Given the description of an element on the screen output the (x, y) to click on. 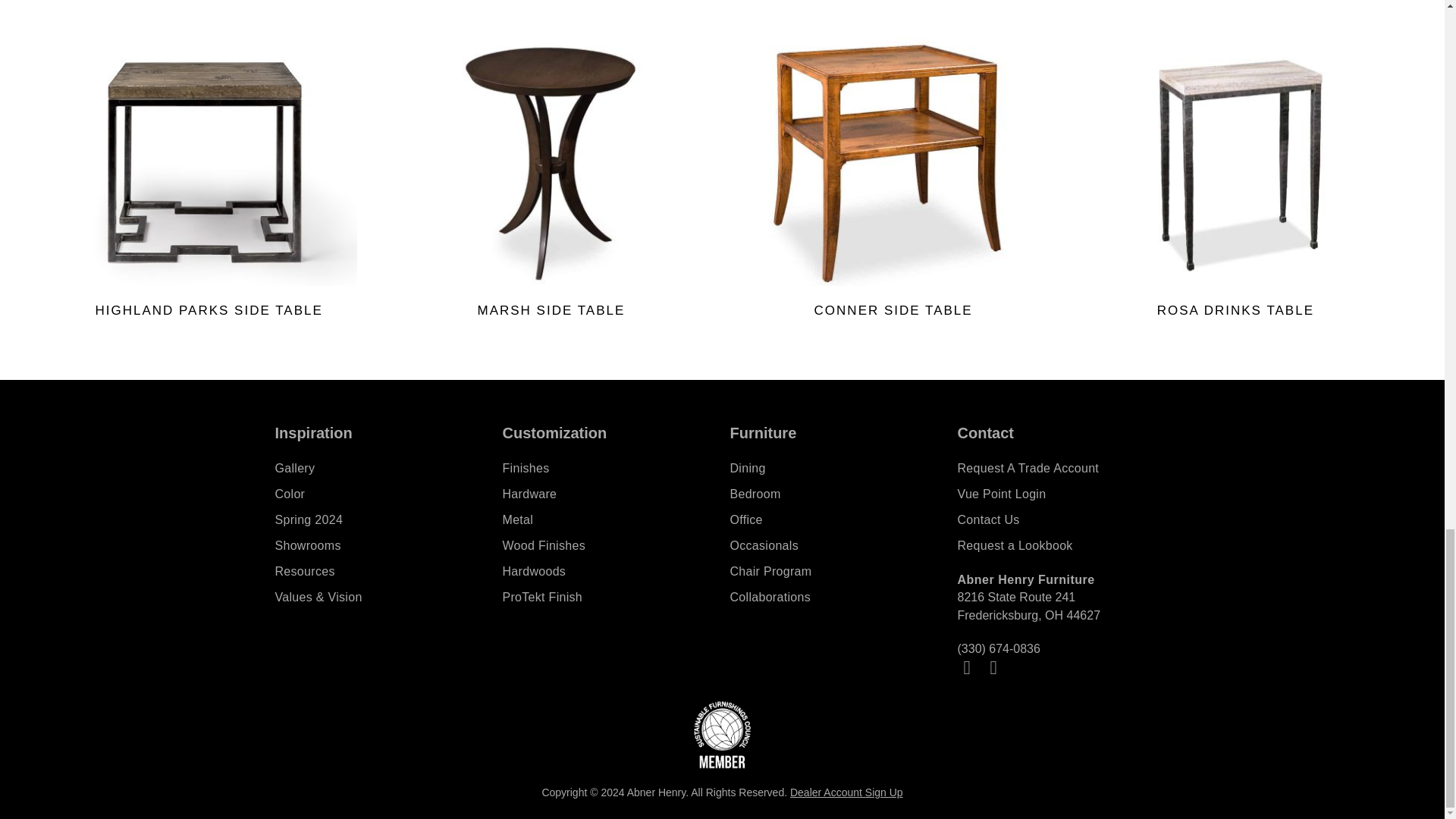
Spring 2024 (380, 519)
CONNER SIDE TABLE (892, 180)
Color (380, 493)
Gallery (380, 468)
MARSH SIDE TABLE (550, 180)
ROSA DRINKS TABLE (1235, 180)
HIGHLAND PARKS SIDE TABLE (208, 180)
